Given the description of an element on the screen output the (x, y) to click on. 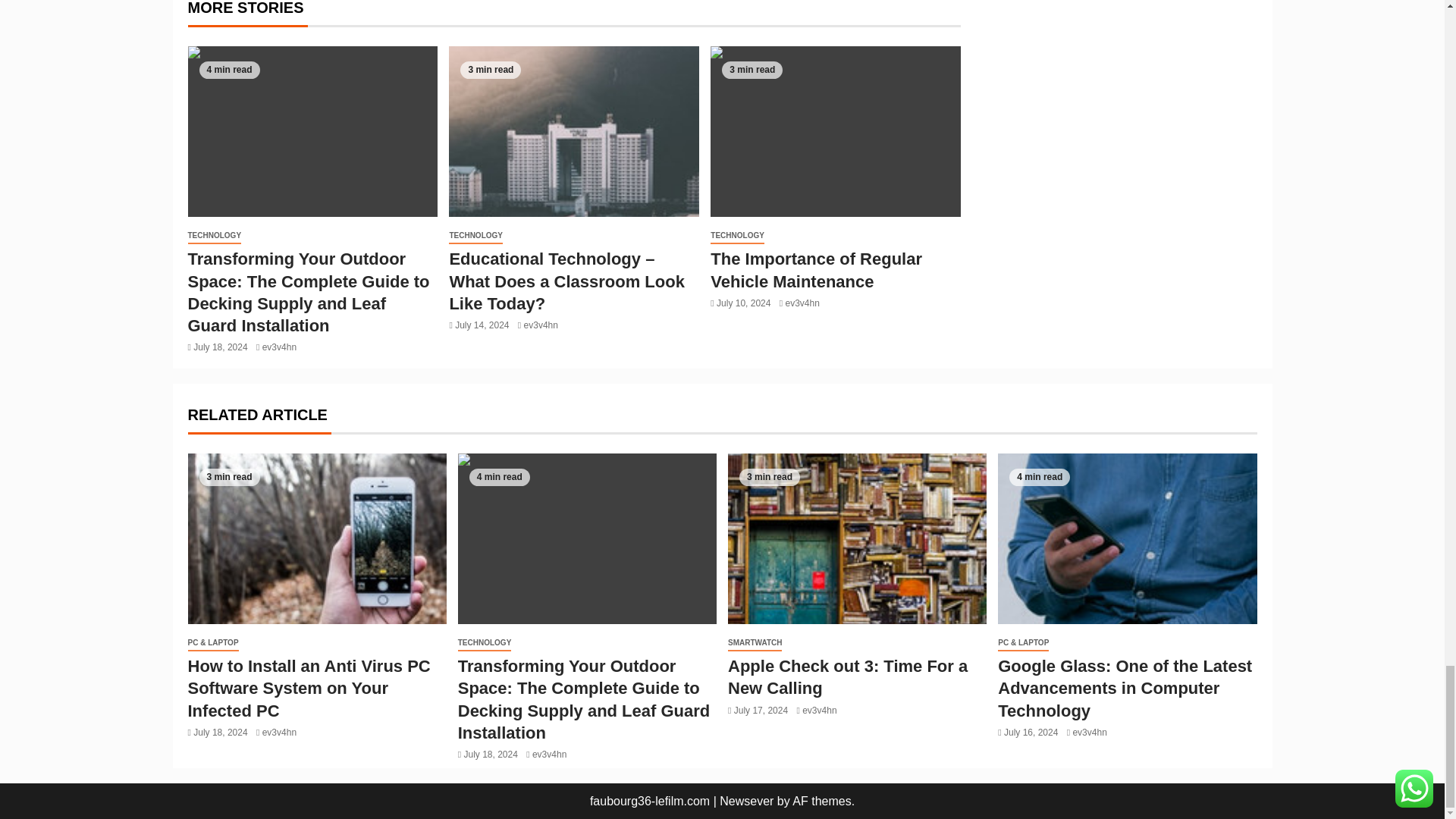
TECHNOLOGY (214, 236)
